Given the description of an element on the screen output the (x, y) to click on. 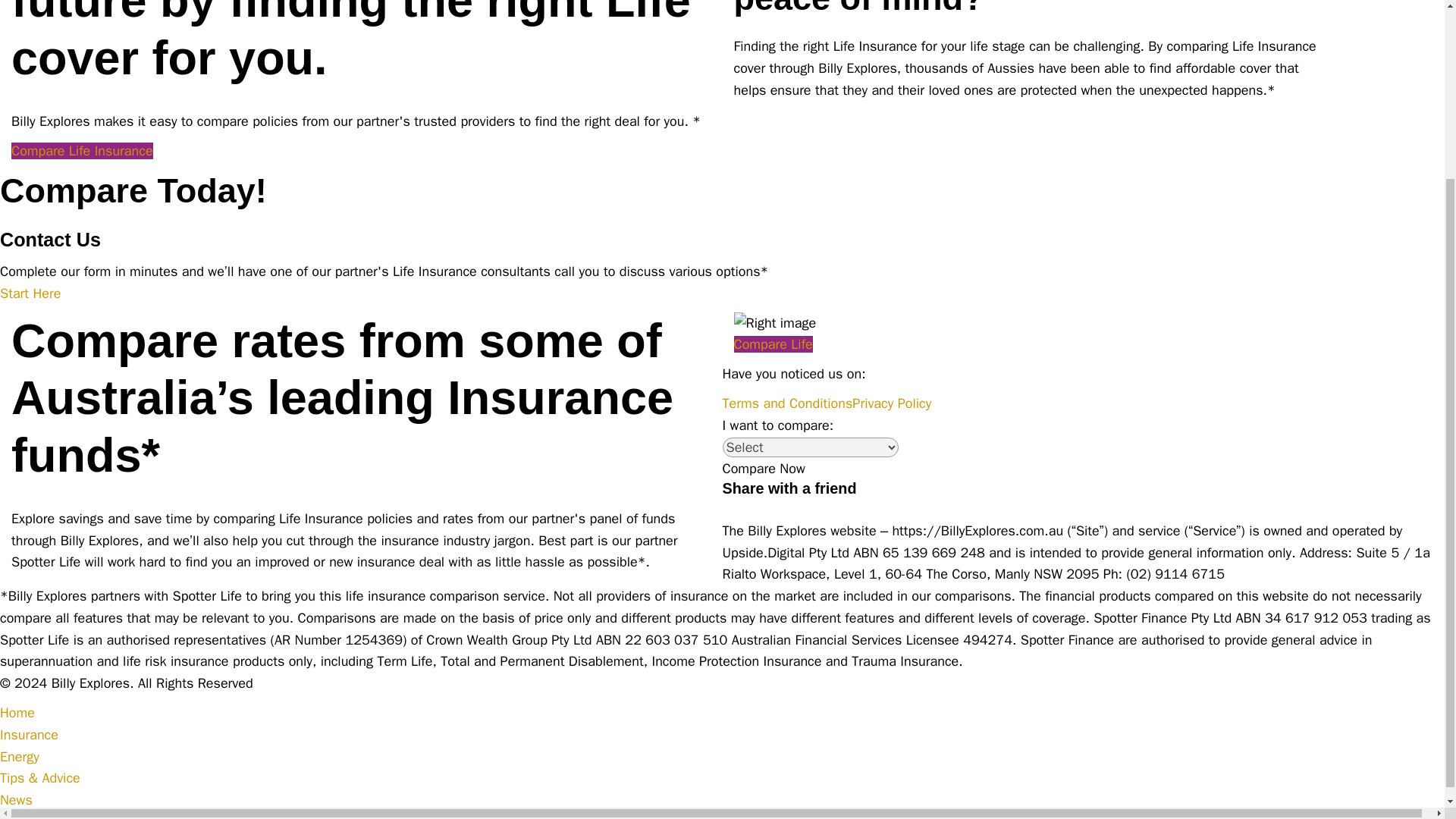
Start Here (30, 293)
Home (17, 712)
Privacy Policy (891, 402)
Compare Now (763, 468)
Insurance (29, 734)
Terms and Conditions (786, 402)
Compare Life (772, 343)
Compare Life Insurance (81, 150)
News (16, 799)
Energy (19, 756)
